Given the description of an element on the screen output the (x, y) to click on. 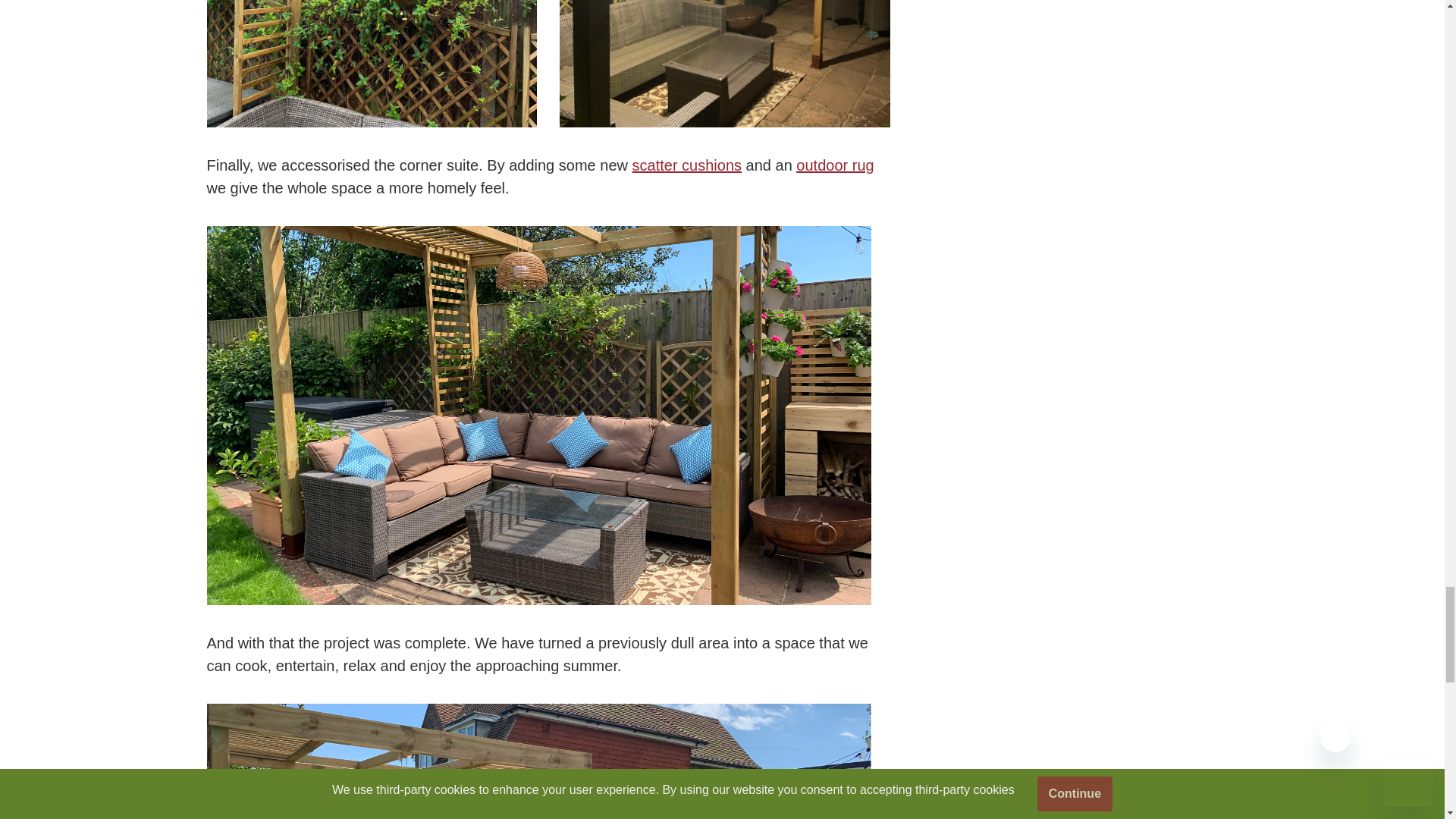
The Bossa 20 hanging lantern (371, 63)
Our outdoor living space is complete (538, 761)
The lantern at night (724, 63)
